Given the description of an element on the screen output the (x, y) to click on. 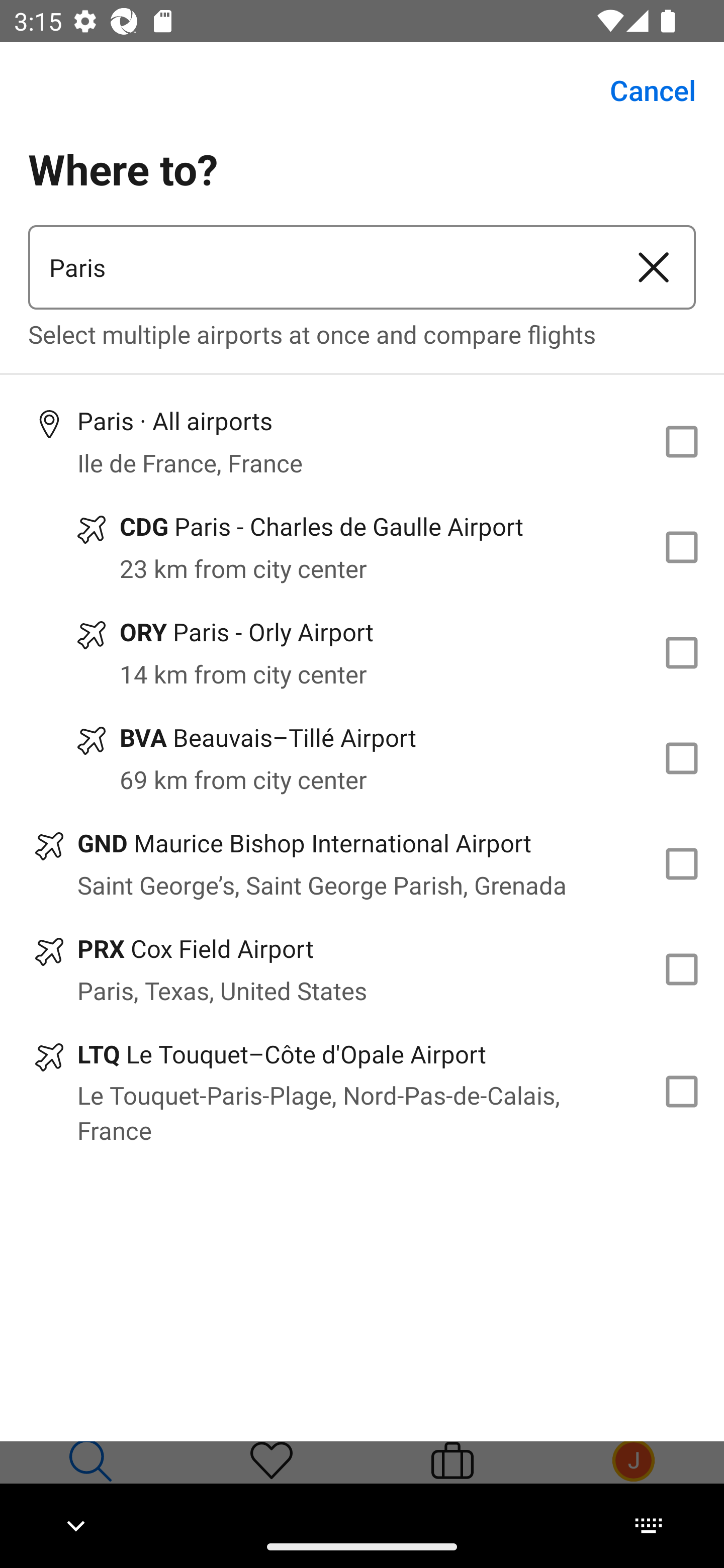
Cancel (641, 90)
Paris (319, 266)
Clear airport or city (653, 266)
Paris · All airports Ile de France, France (362, 440)
ORY Paris - Orly Airport 14 km from city center (362, 652)
BVA Beauvais–Tillé Airport 69 km from city center (362, 757)
PRX Cox Field Airport Paris, Texas, United States (362, 969)
